Given the description of an element on the screen output the (x, y) to click on. 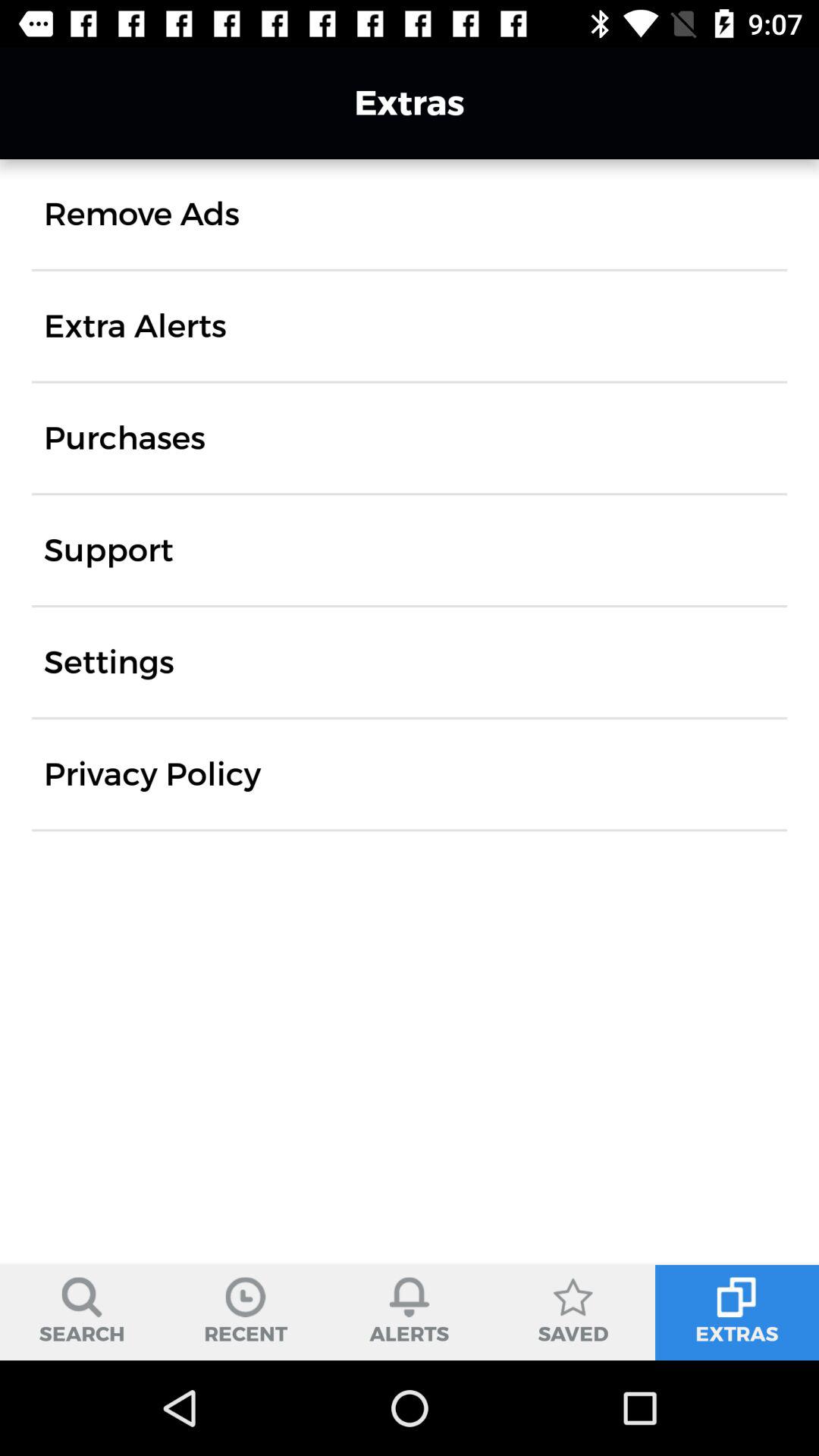
tap icon below the purchases item (108, 550)
